Given the description of an element on the screen output the (x, y) to click on. 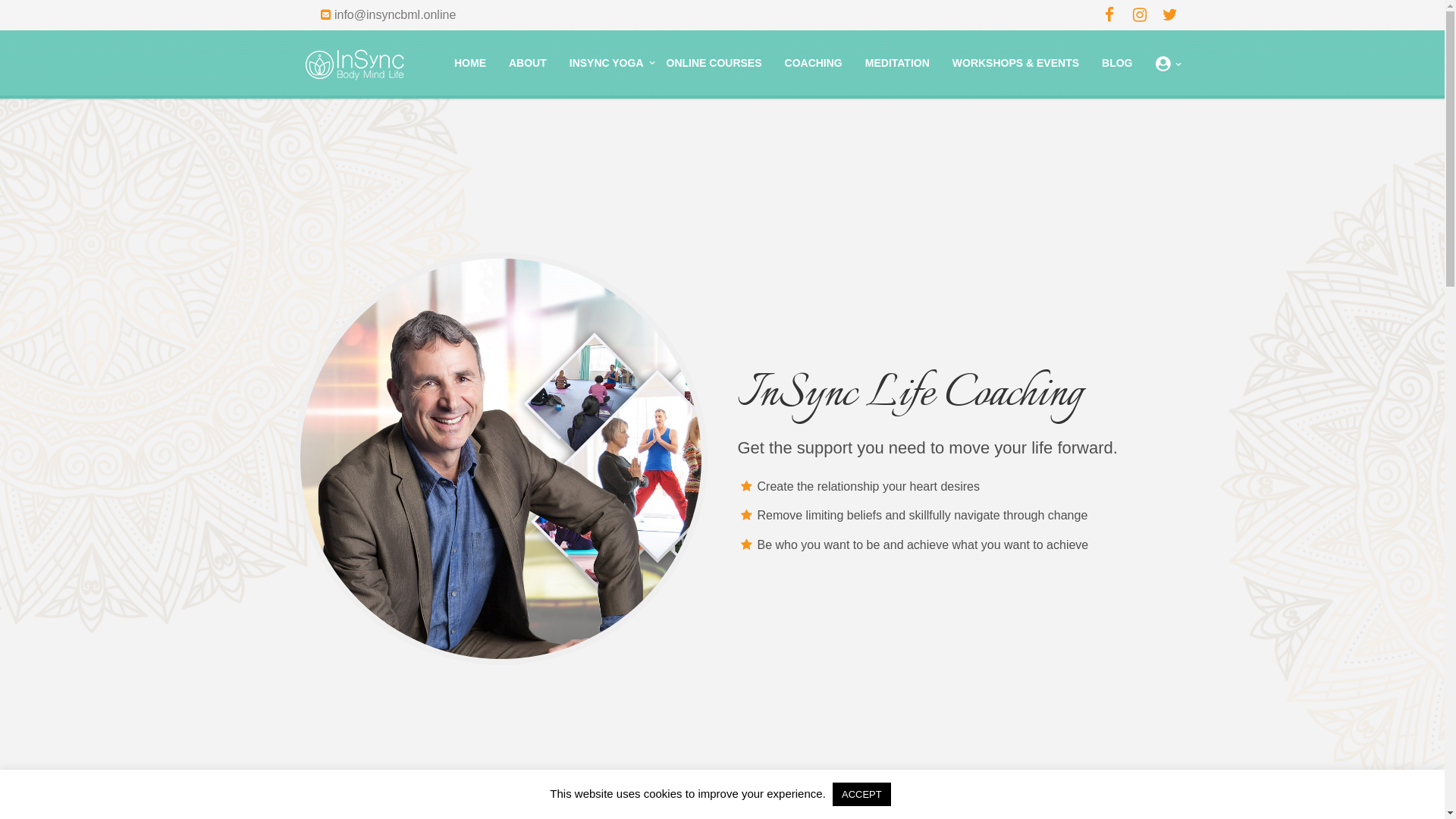
Instagram Element type: hover (1138, 15)
MEDITATION Element type: text (897, 62)
BLOG Element type: text (1116, 62)
WORKSHOPS & EVENTS Element type: text (1015, 62)
Twitter Element type: hover (1169, 15)
Facebook Element type: hover (1108, 15)
HOME Element type: text (469, 62)
LOGIN Element type: text (1161, 63)
ONLINE COURSES Element type: text (714, 62)
ABOUT Element type: text (527, 62)
info@insyncbml.online Element type: text (394, 14)
ACCEPT Element type: text (861, 794)
INSYNC YOGA Element type: text (606, 62)
COACHING Element type: text (813, 62)
